Given the description of an element on the screen output the (x, y) to click on. 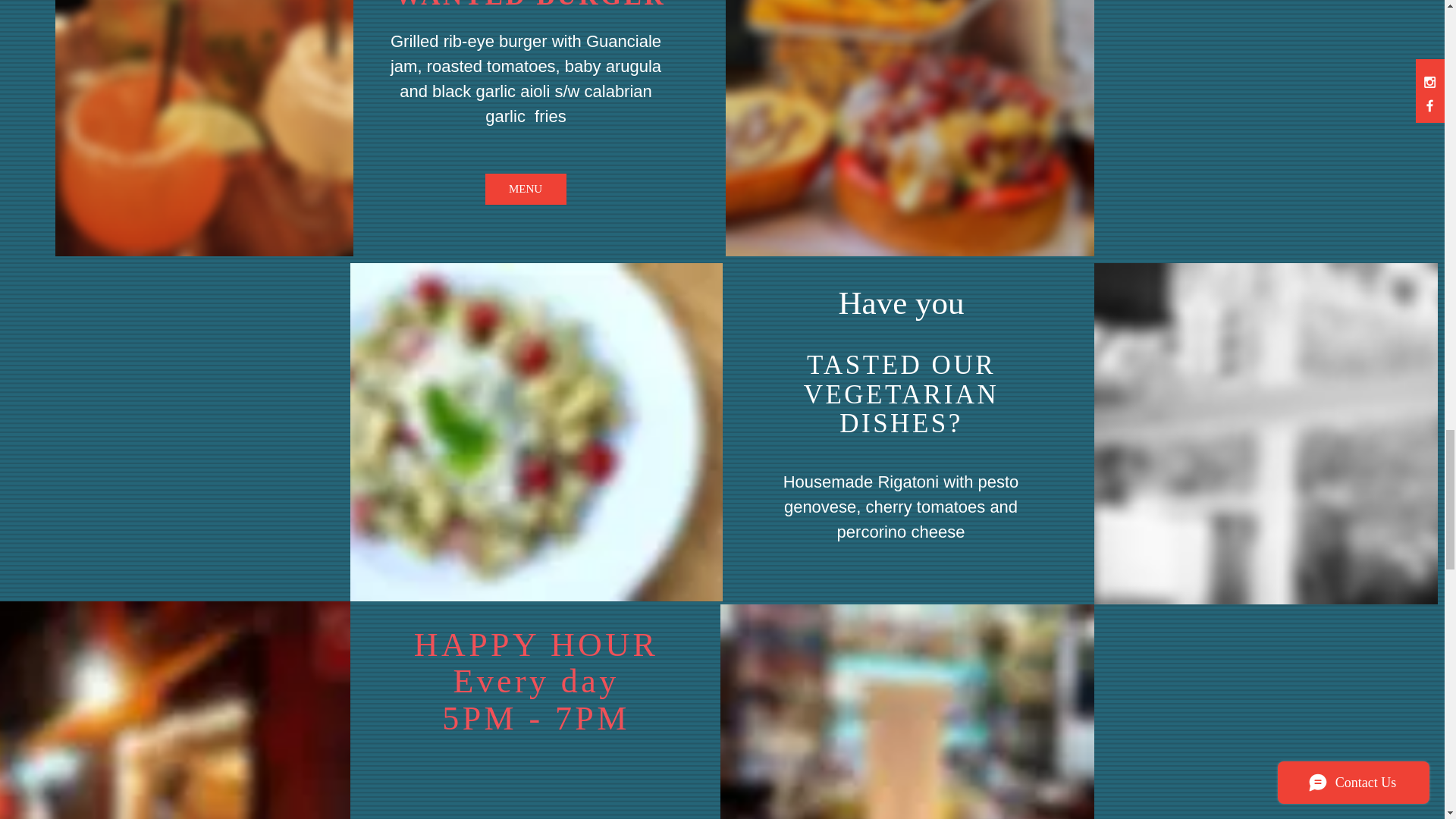
MENU (525, 188)
bar2.png (176, 127)
Rigatoni with pesto (536, 431)
Clinton St (1265, 433)
belli front (174, 710)
Cocktails at Belli (203, 128)
bar bites (907, 711)
Manchego Burger (909, 128)
